Given the description of an element on the screen output the (x, y) to click on. 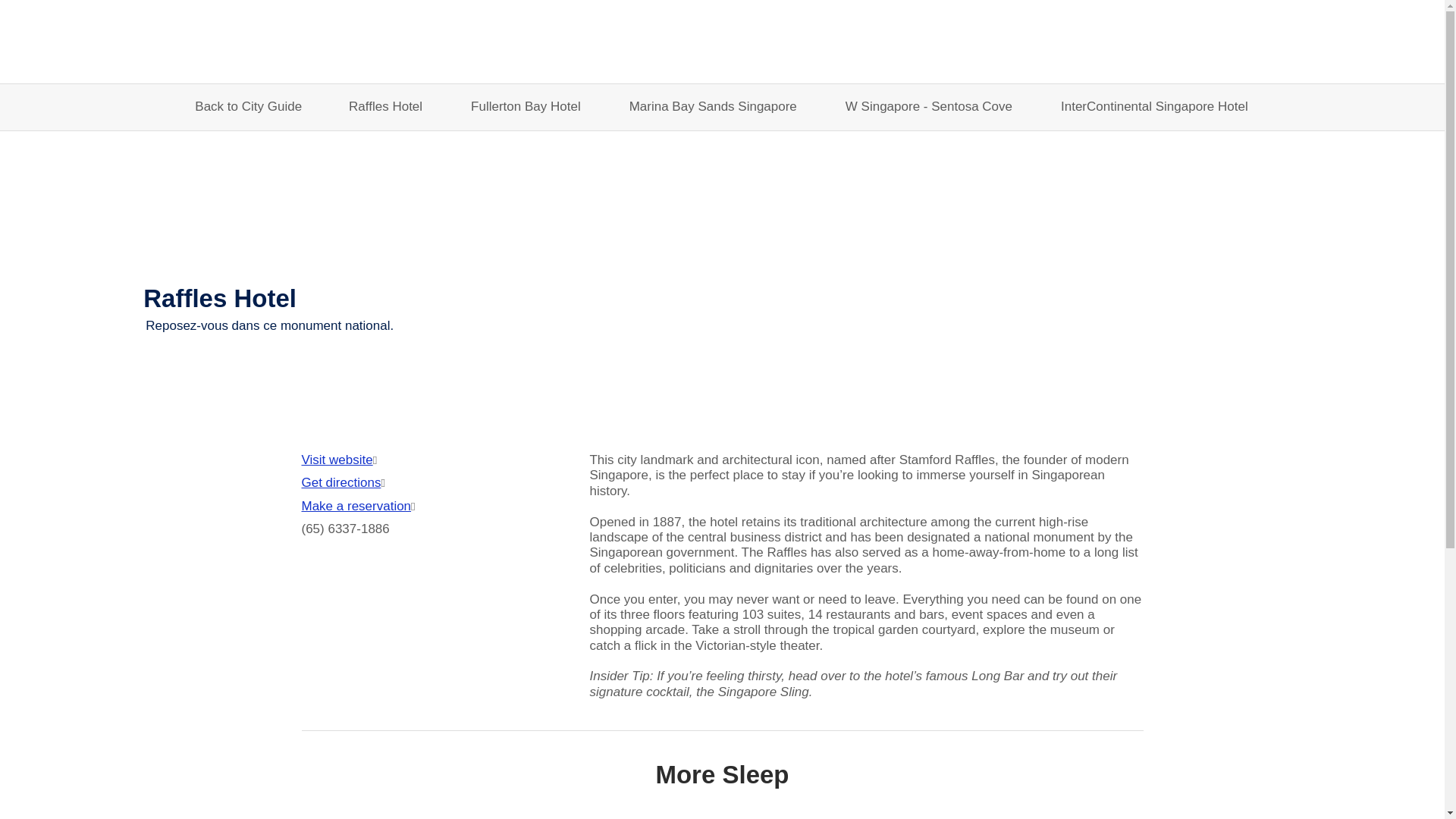
Visit website (336, 459)
InterContinental Singapore Hotel (1153, 107)
Make a reservation (356, 506)
Get directions (341, 482)
Fullerton Bay Hotel (525, 107)
W Singapore - Sentosa Cove (929, 107)
Back to City Guide (247, 107)
Raffles Hotel (384, 107)
Marina Bay Sands Singapore (713, 107)
